Given the description of an element on the screen output the (x, y) to click on. 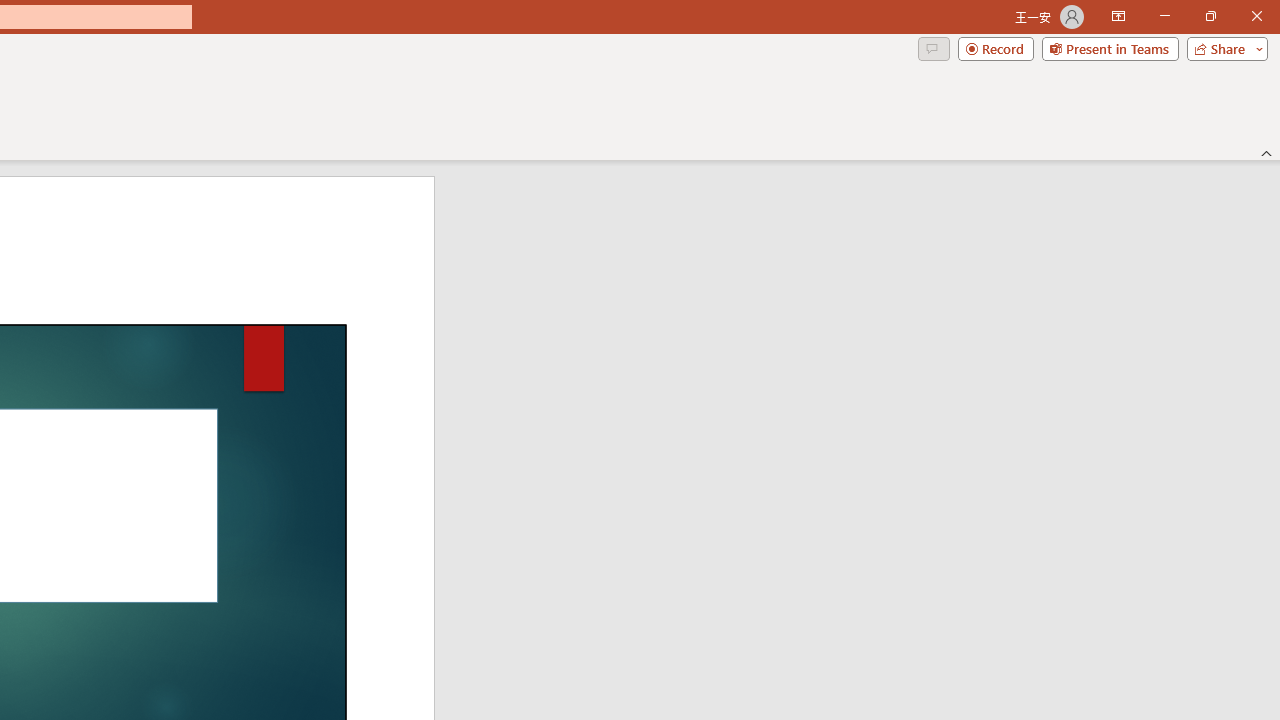
Record (995, 48)
Restore Down (1210, 16)
Share (1223, 48)
Close (1256, 16)
Minimize (1164, 16)
Present in Teams (1109, 48)
Comments (933, 48)
Collapse the Ribbon (1267, 152)
Ribbon Display Options (1118, 16)
